Given the description of an element on the screen output the (x, y) to click on. 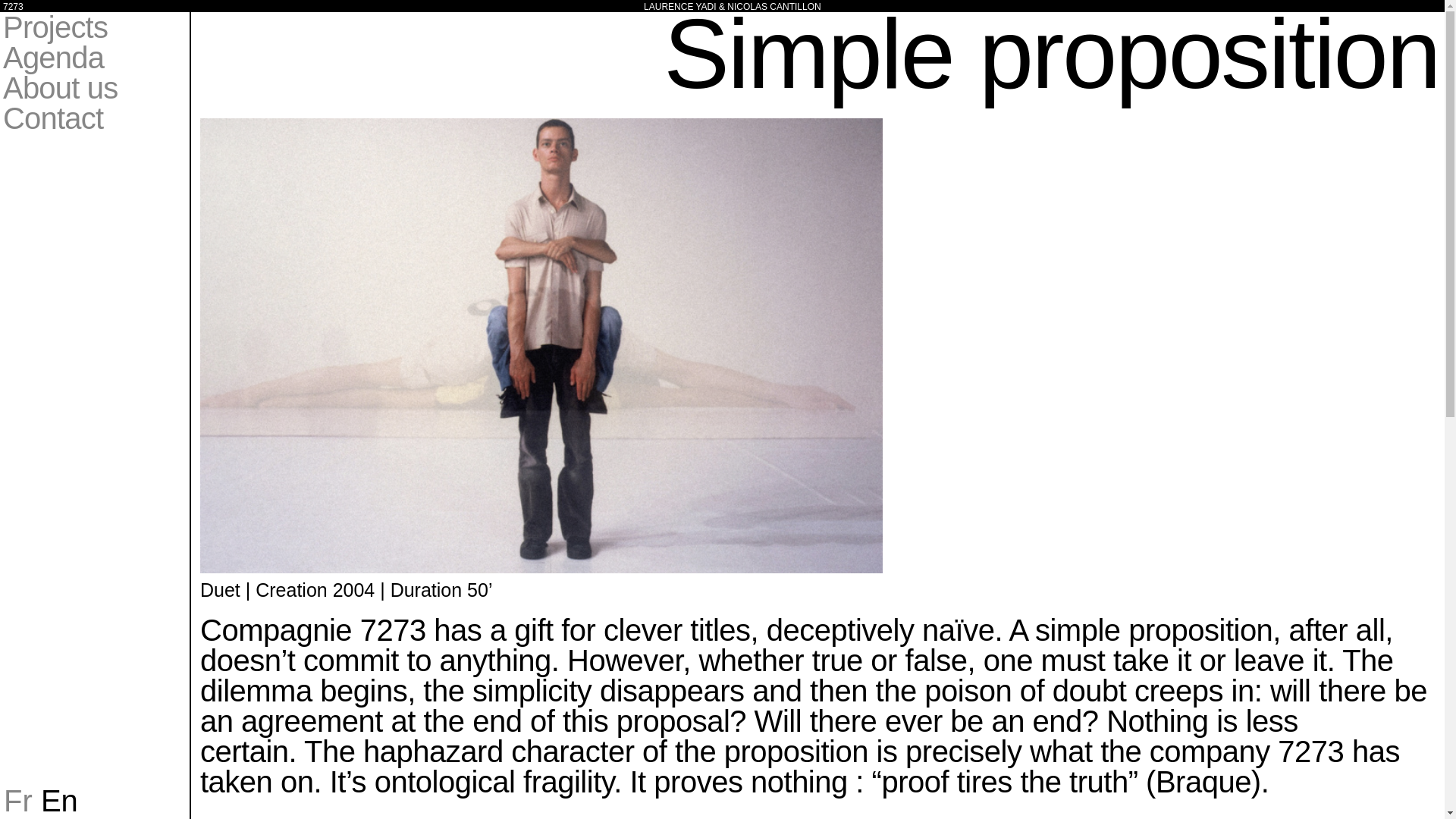
Agenda (52, 57)
Projects (54, 27)
En (59, 800)
7273 (12, 6)
Contact (52, 118)
Fr (18, 800)
About us (59, 87)
